Given the description of an element on the screen output the (x, y) to click on. 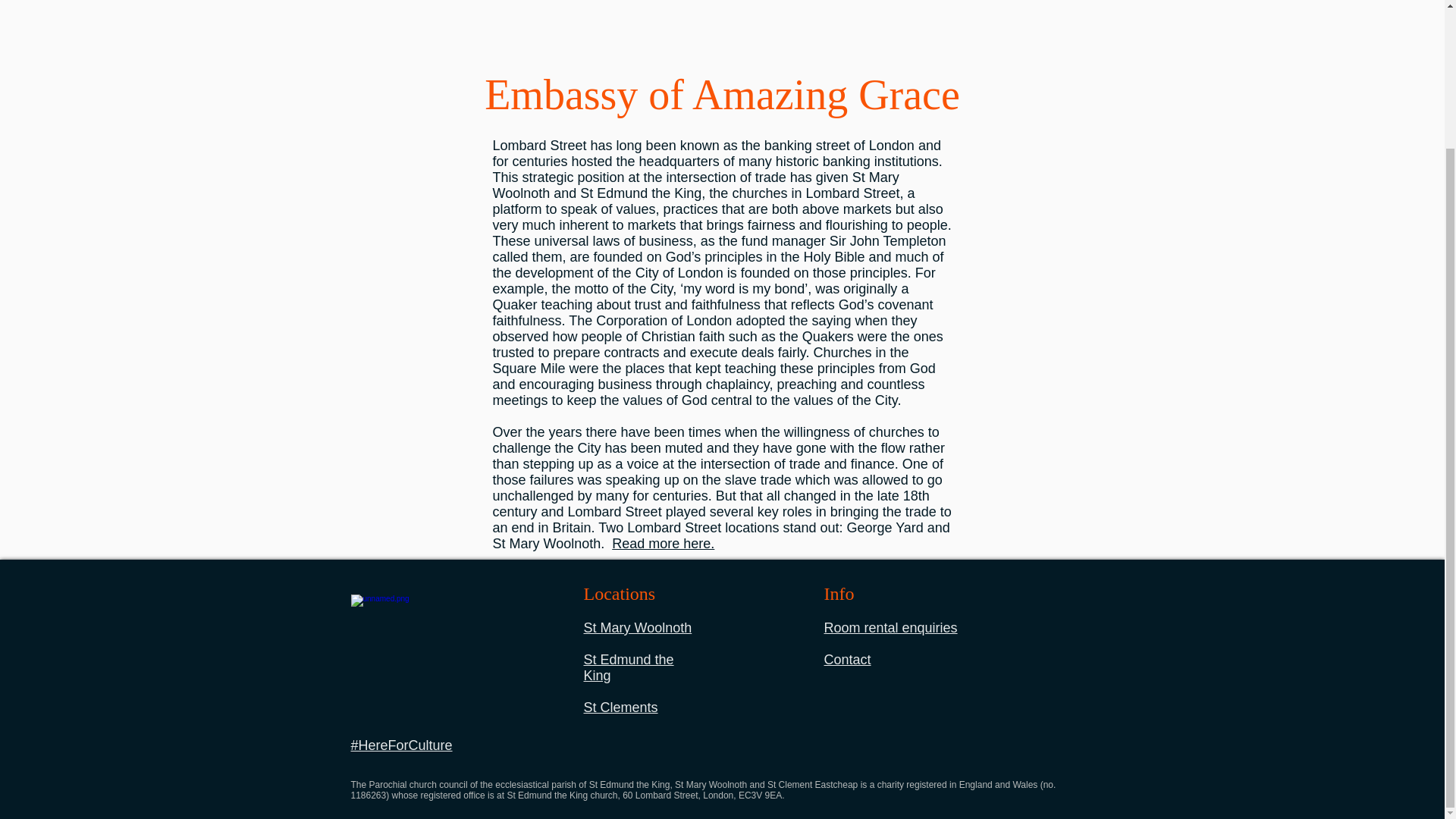
Contact (847, 659)
Room rental enquiries (890, 627)
Read more here. (662, 543)
St Mary Woolnoth (638, 627)
St Clements (620, 707)
St Edmund the King (628, 667)
